Given the description of an element on the screen output the (x, y) to click on. 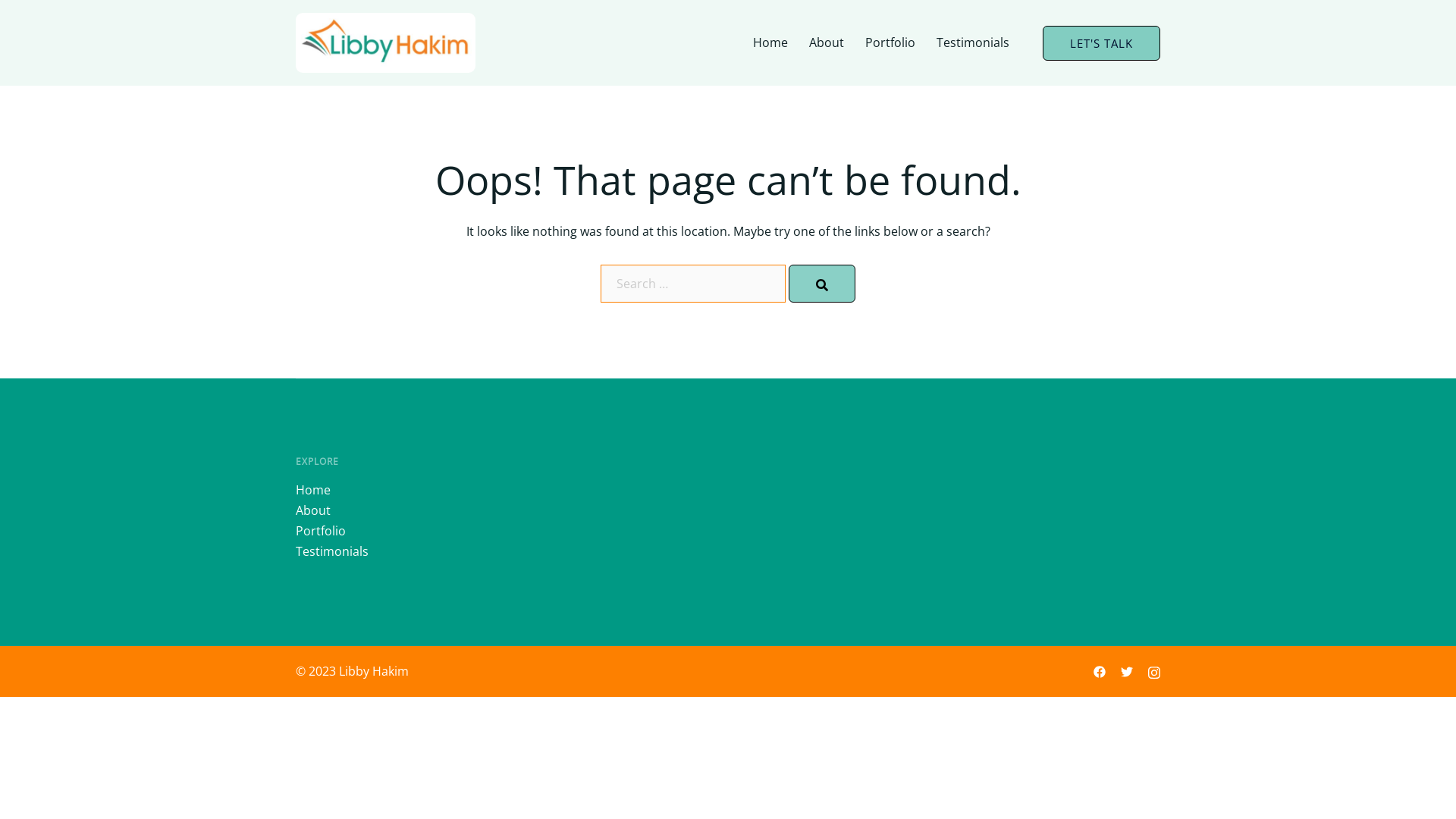
About Element type: text (312, 510)
About Element type: text (826, 42)
LET'S TALK Element type: text (1101, 42)
Testimonials Element type: text (331, 550)
Libby Hakim Element type: hover (385, 41)
Portfolio Element type: text (890, 42)
Search Element type: text (821, 283)
Home Element type: text (770, 42)
Portfolio Element type: text (320, 530)
Home Element type: text (312, 489)
Testimonials Element type: text (972, 42)
